Given the description of an element on the screen output the (x, y) to click on. 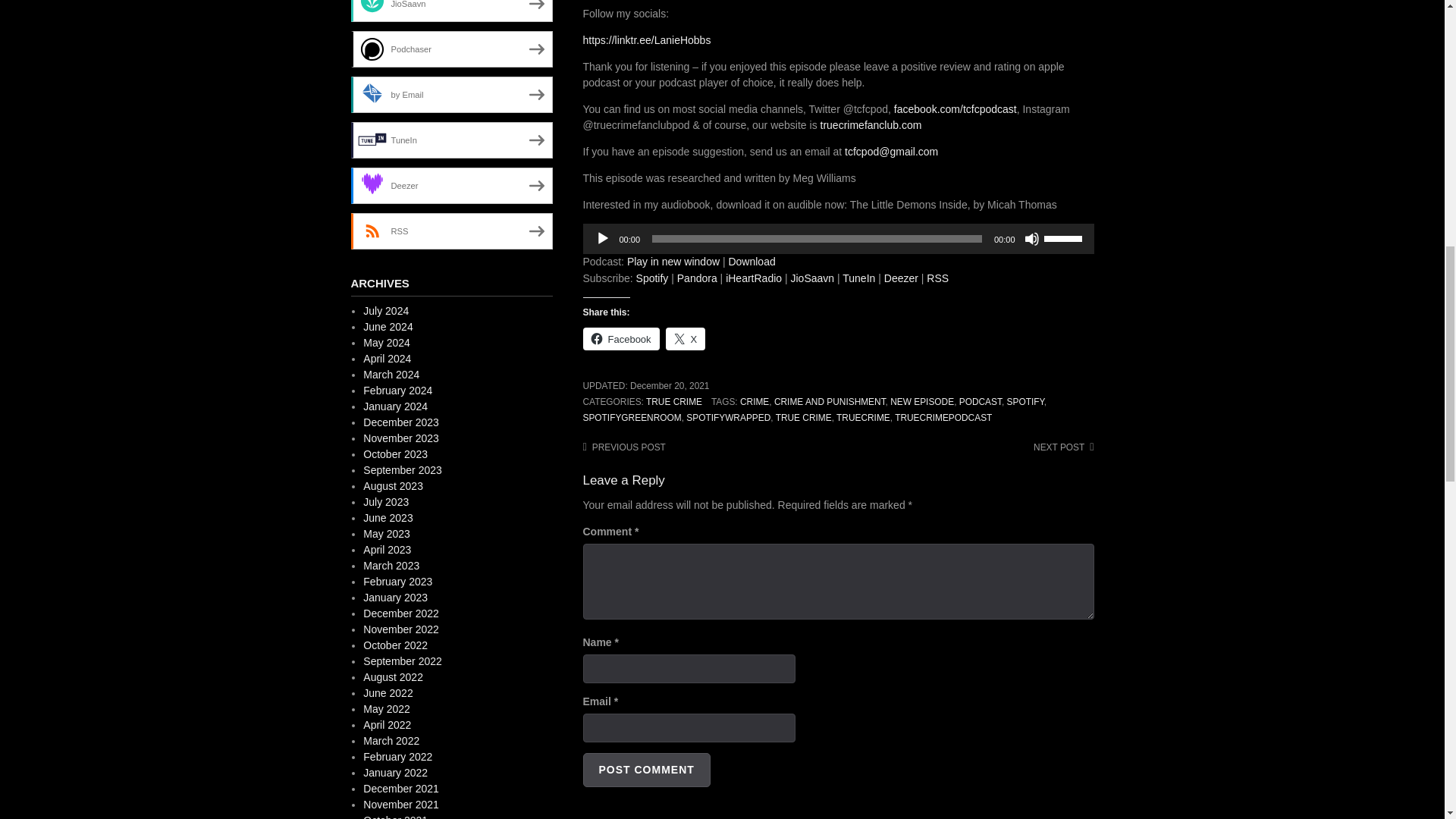
Subscribe on Spotify (652, 277)
NEW EPISODE (921, 401)
truecrimefanclub.com (871, 124)
Play in new window (673, 261)
Pandora (697, 277)
CRIME AND PUNISHMENT (829, 401)
Subscribe on iHeartRadio (753, 277)
Subscribe on JioSaavn (812, 277)
Click to share on Facebook (620, 338)
TRUE CRIME (673, 401)
Play (602, 238)
RSS (937, 277)
Mute (1031, 238)
JioSaavn (812, 277)
Play in new window (673, 261)
